Given the description of an element on the screen output the (x, y) to click on. 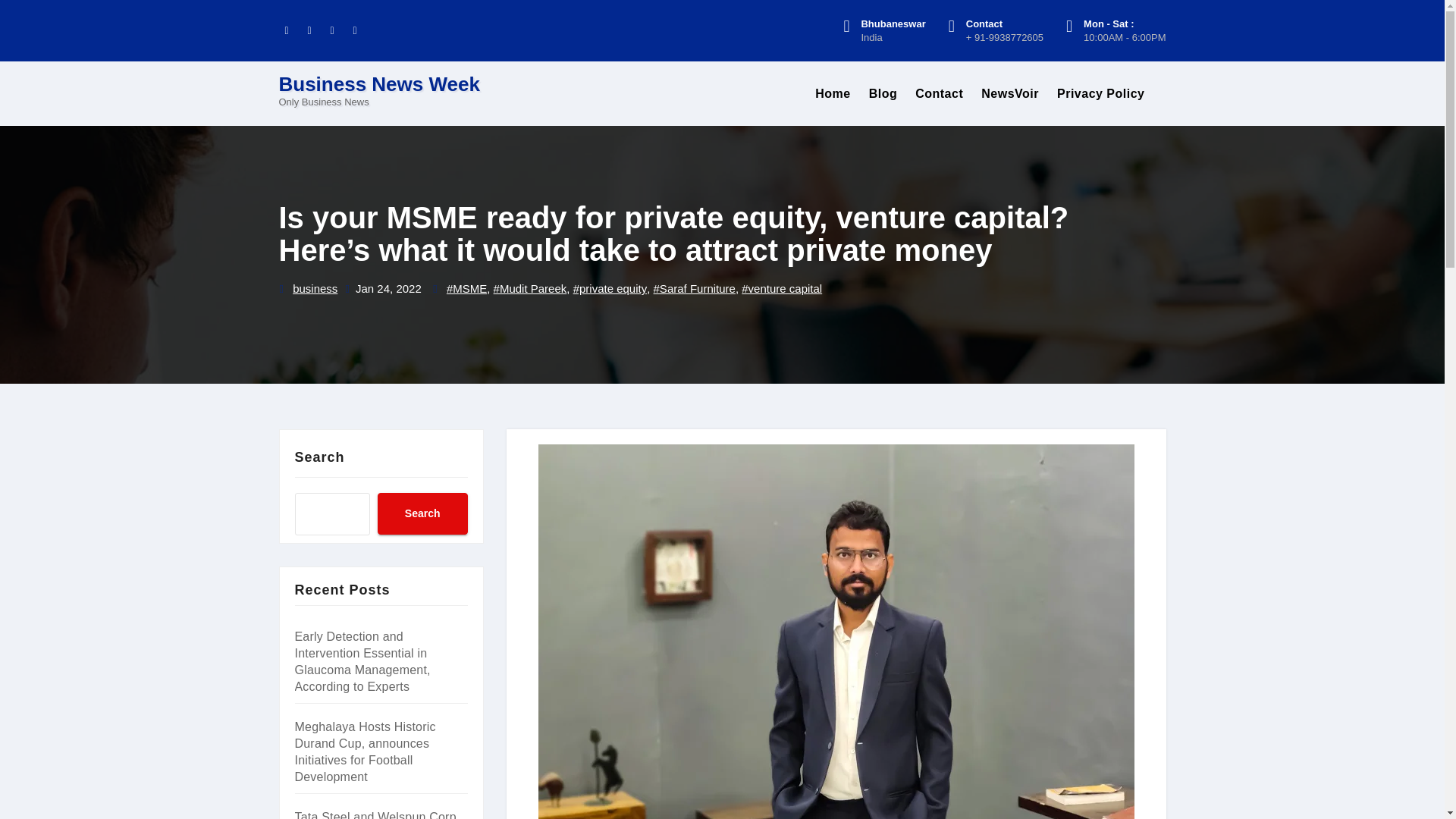
Home (832, 93)
Contact (938, 93)
Search (422, 513)
Business News Week (379, 83)
Home (832, 93)
Blog (883, 93)
NewsVoir (1010, 93)
Privacy Policy (1101, 93)
business (314, 289)
